Given the description of an element on the screen output the (x, y) to click on. 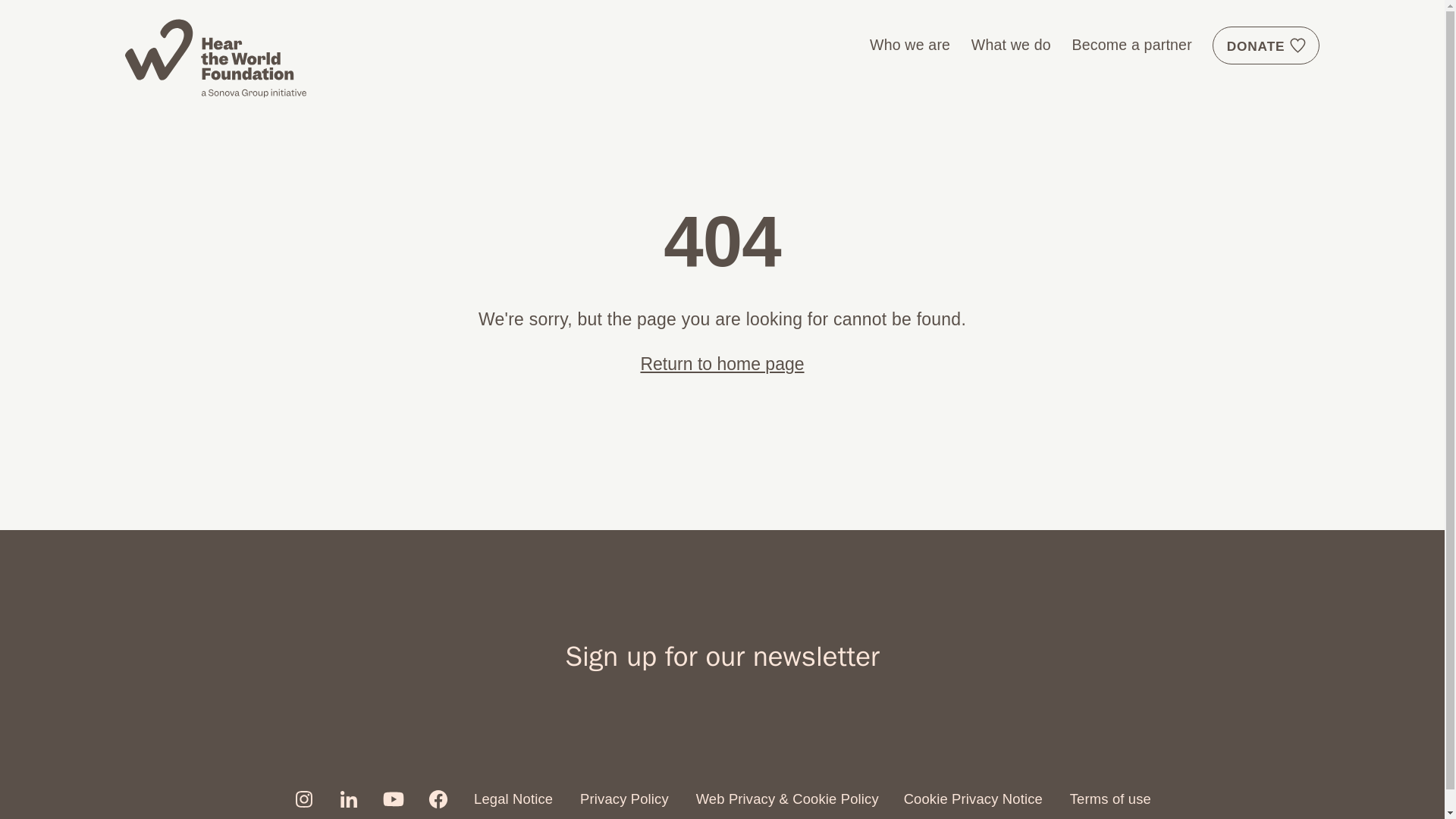
Become a partner (1131, 44)
DONATE (1265, 44)
What we do (1011, 44)
Who we are (909, 44)
linkedin profile (348, 798)
facebook profile (438, 798)
instagram profile (304, 798)
youtube profile (393, 798)
